Given the description of an element on the screen output the (x, y) to click on. 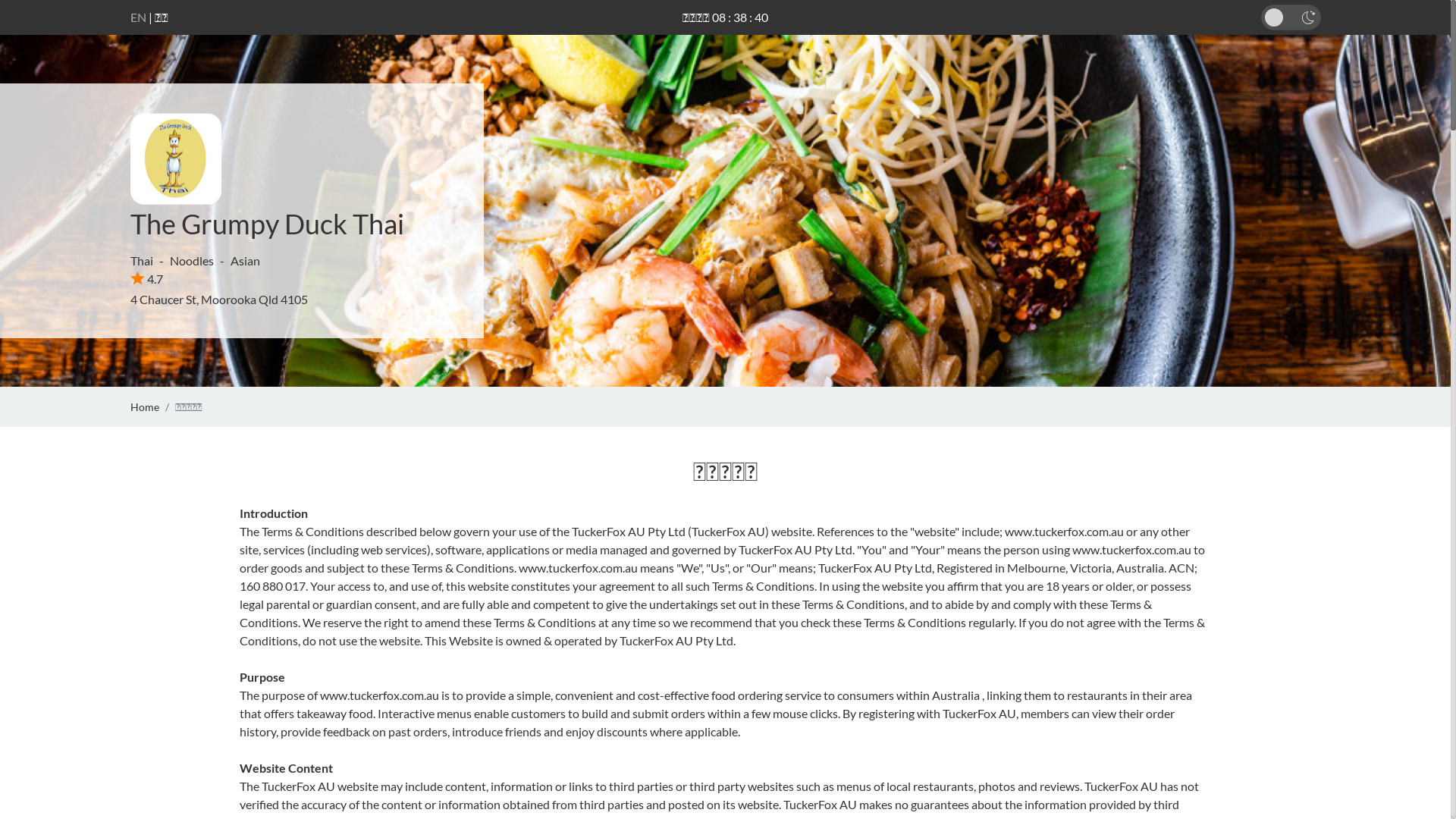
The Grumpy Duck Thai Element type: text (267, 223)
Home Element type: text (144, 406)
4.7 Element type: text (146, 278)
EN Element type: text (138, 16)
